Given the description of an element on the screen output the (x, y) to click on. 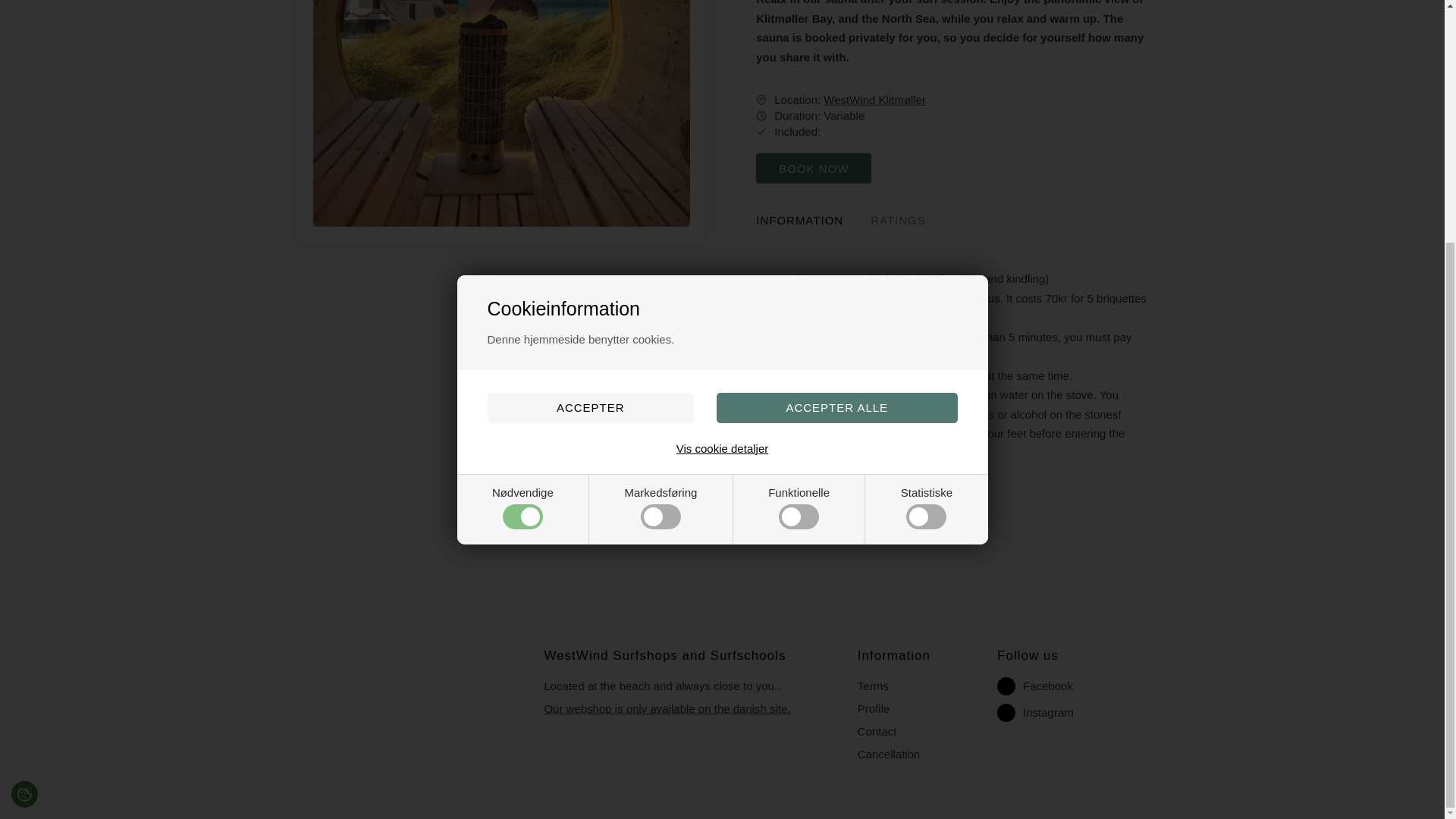
Vis cookie detaljer (722, 111)
Accepter (589, 71)
Accepter alle (837, 71)
